Given the description of an element on the screen output the (x, y) to click on. 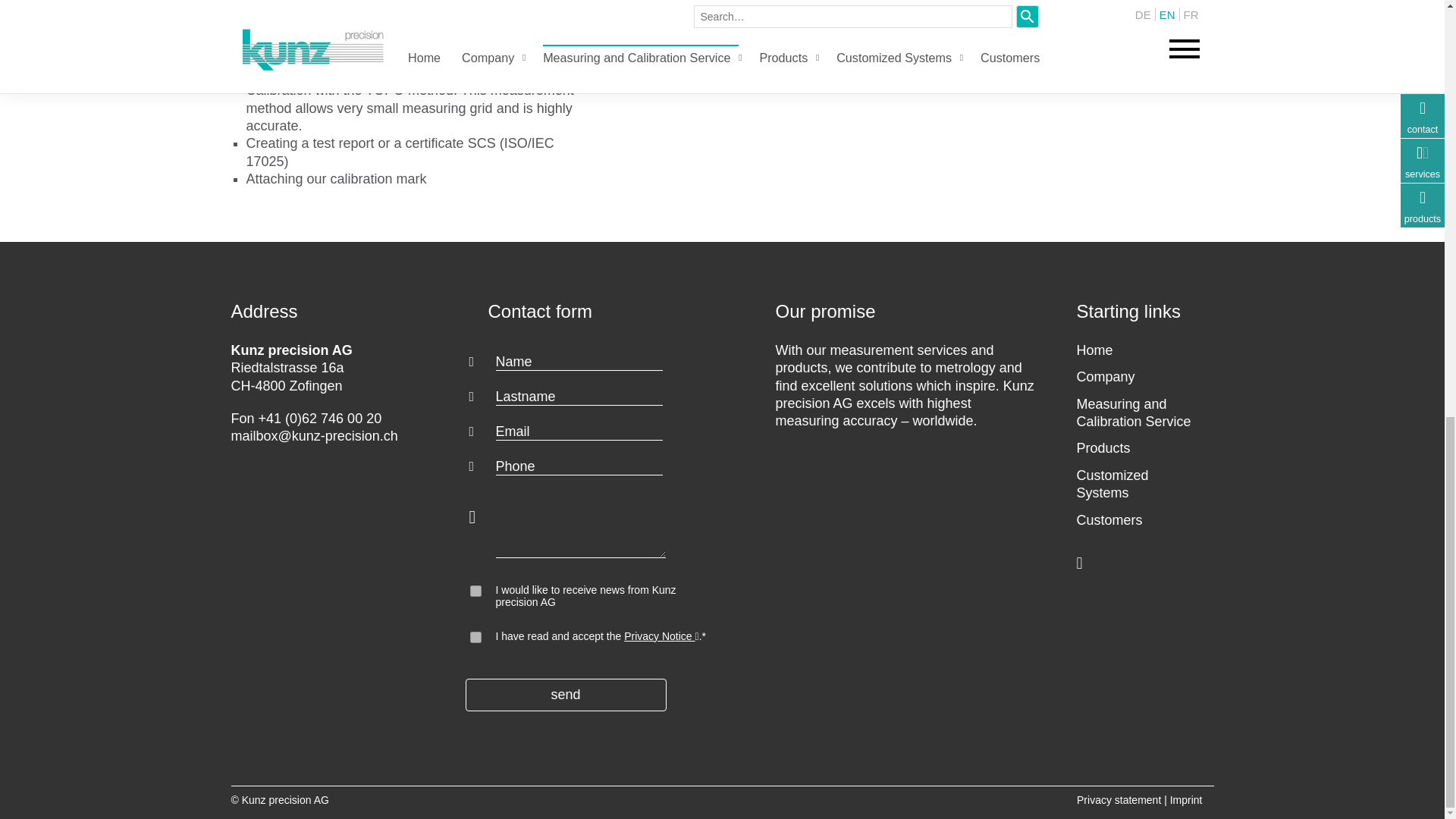
I would like to receive news from Kunz precision AG (475, 591)
